Given the description of an element on the screen output the (x, y) to click on. 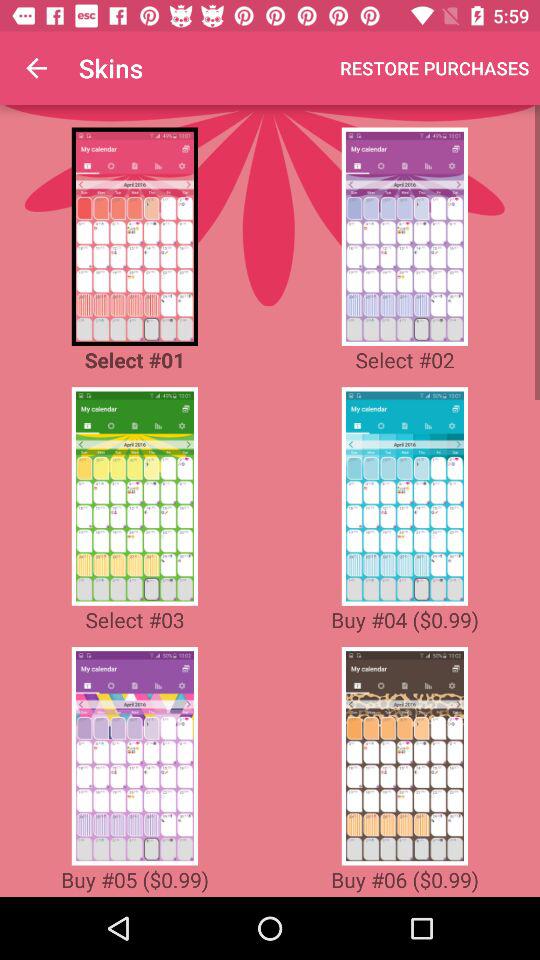
select this skin (404, 236)
